Given the description of an element on the screen output the (x, y) to click on. 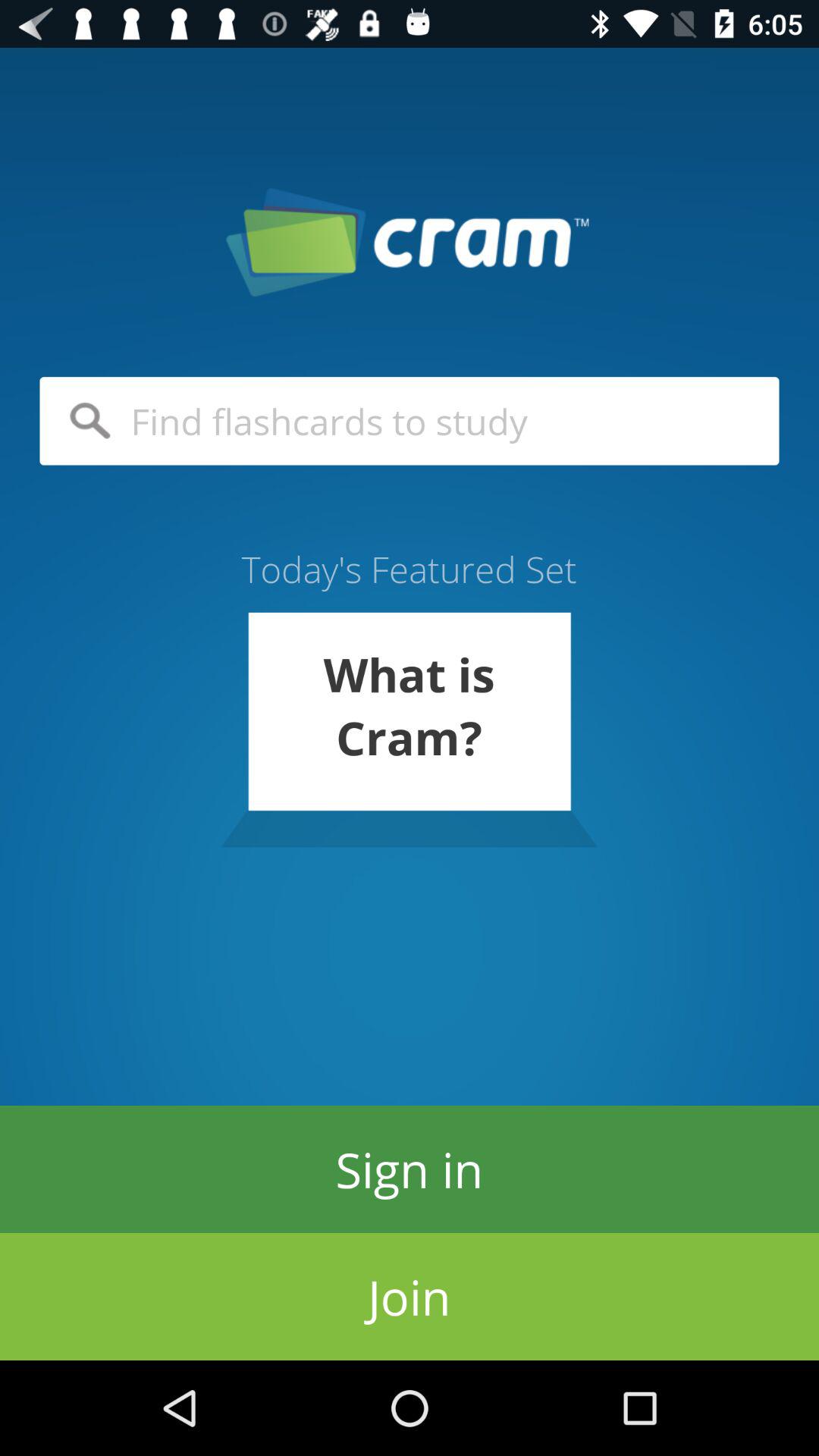
turn off icon above the sign in (408, 729)
